Given the description of an element on the screen output the (x, y) to click on. 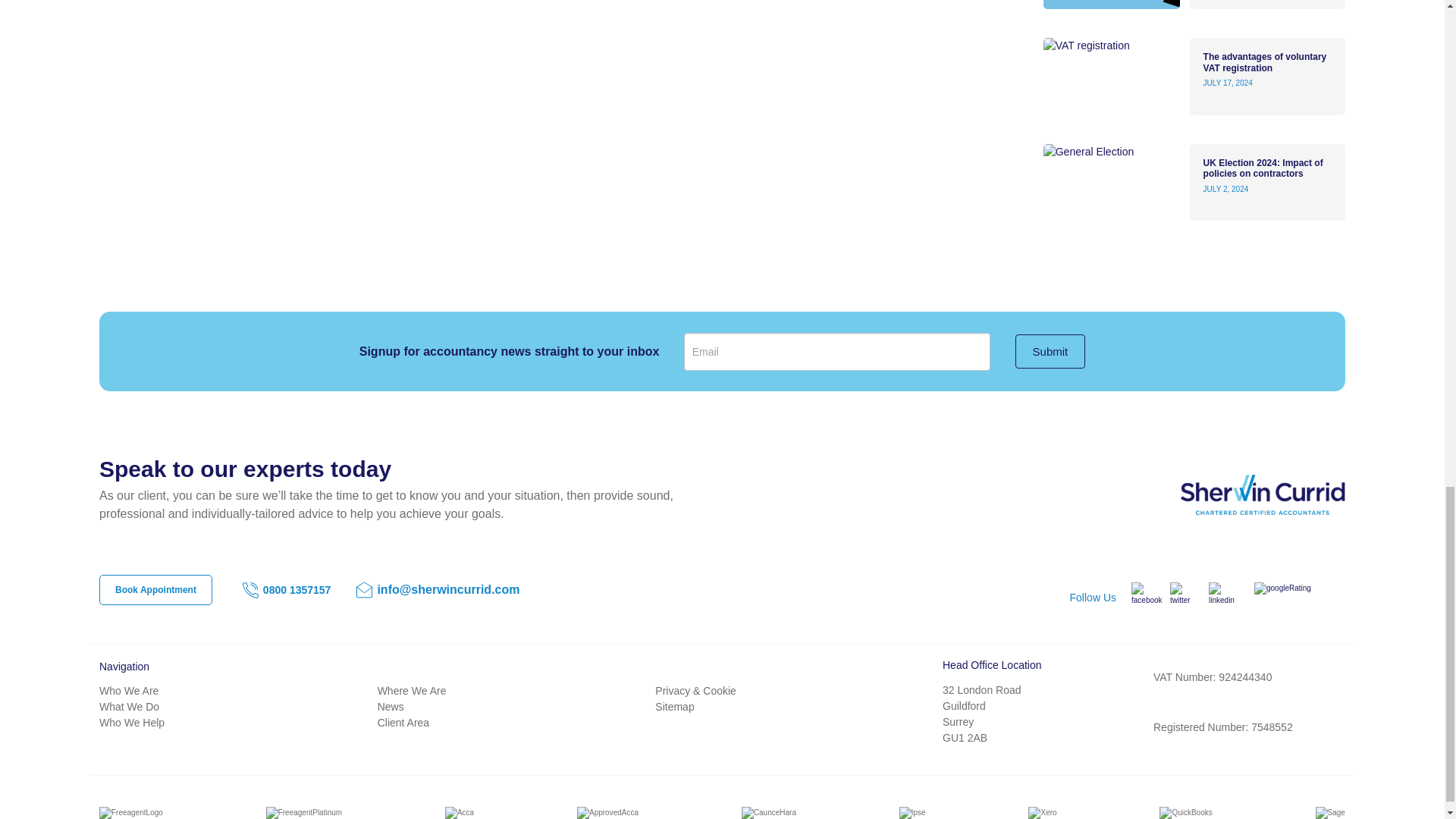
Sherwin Currid (1235, 495)
